Given the description of an element on the screen output the (x, y) to click on. 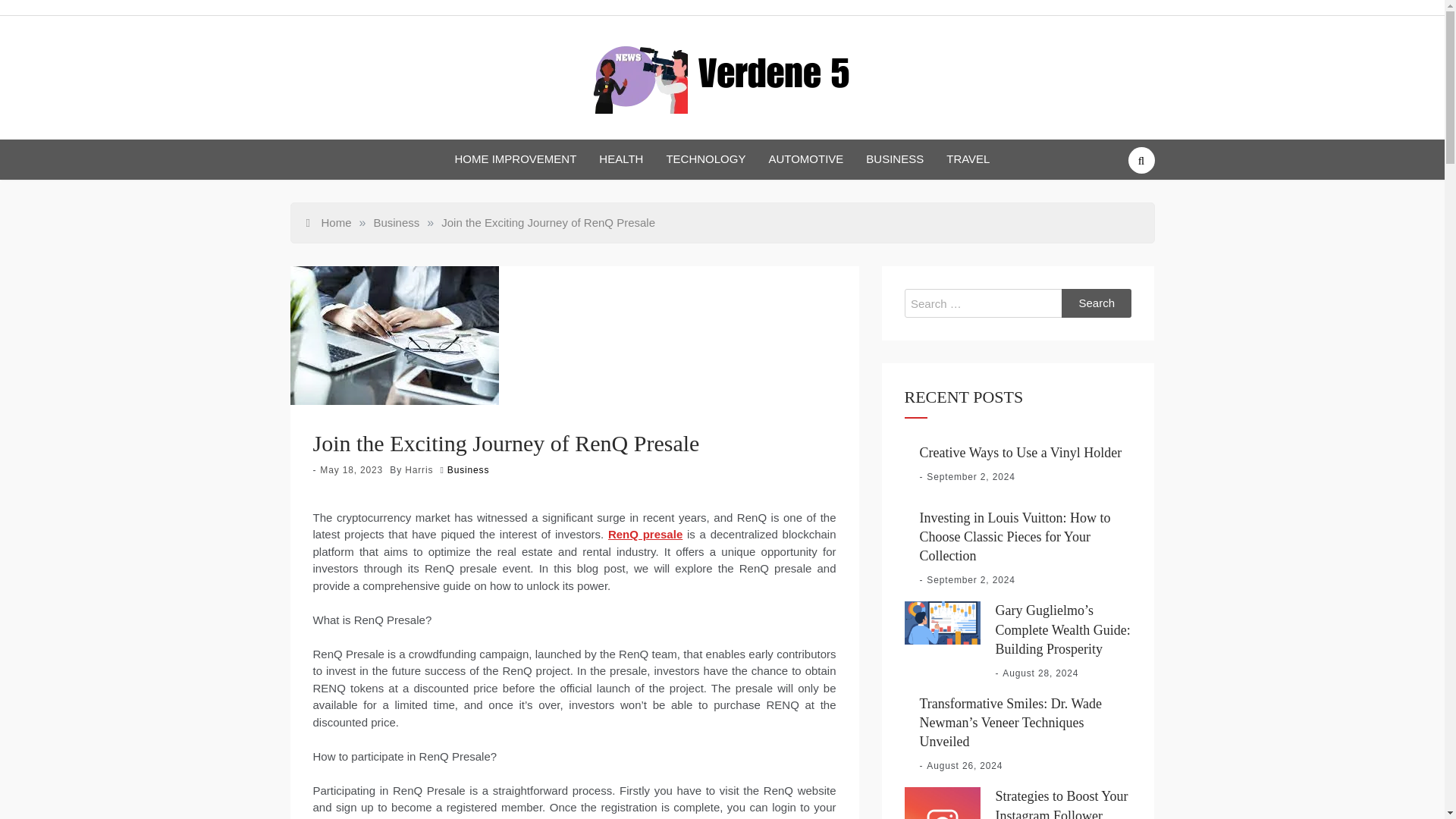
HEALTH (620, 159)
AUTOMOTIVE (805, 159)
Creative Ways to Use a Vinyl Holder (1019, 452)
Strategies to Boost Your Instagram Follower Count Fast (1060, 803)
May 18, 2023 (351, 470)
Search (1096, 303)
HOME IMPROVEMENT (515, 159)
Business (467, 470)
Join the Exciting Journey of RenQ Presale (548, 221)
